Given the description of an element on the screen output the (x, y) to click on. 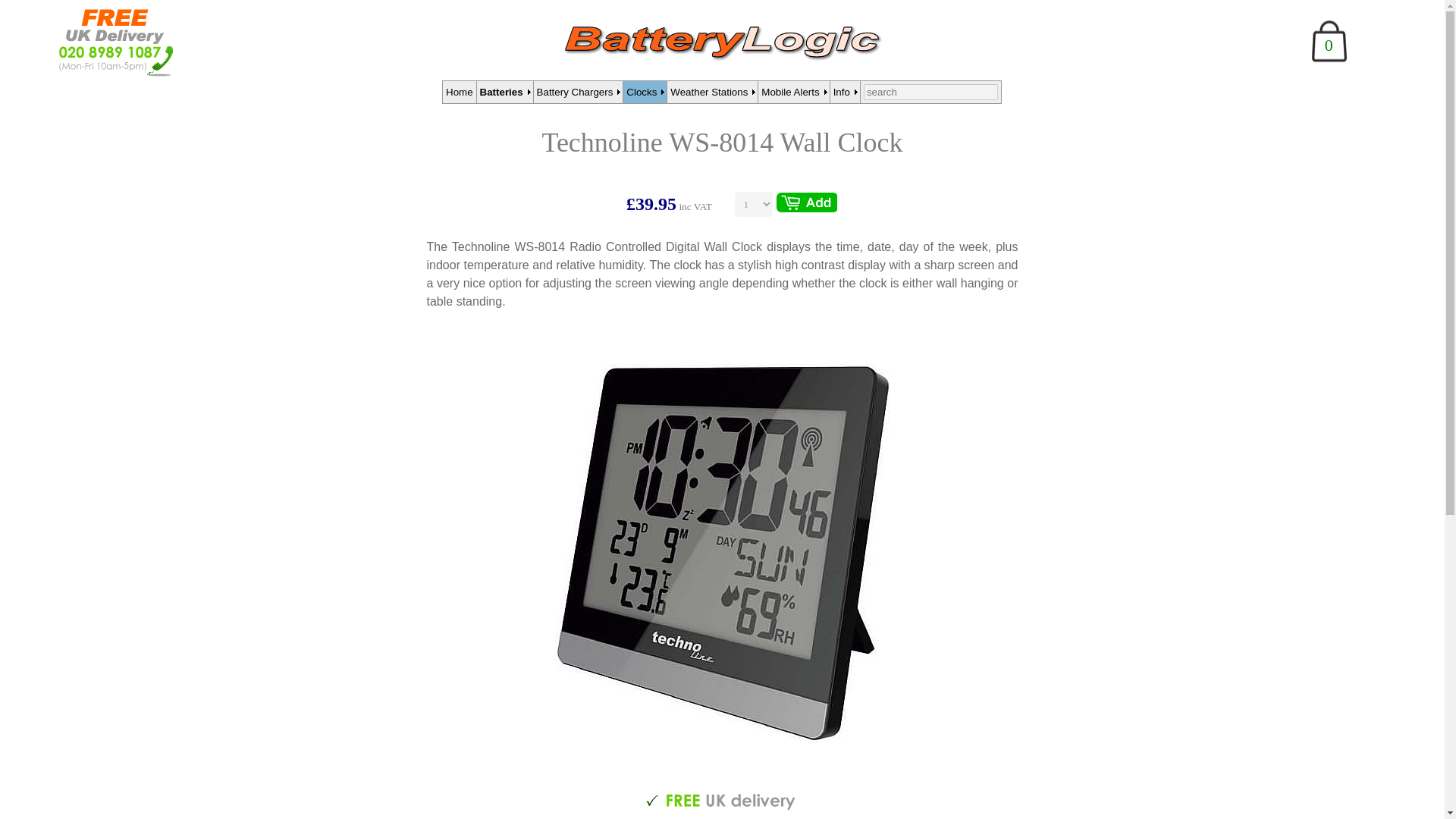
Mobile Alerts (789, 91)
Home (459, 91)
Battery Chargers (574, 91)
Info (841, 91)
Back to Battery Logic Home Page (721, 43)
Weather Stations (708, 91)
Clocks (641, 91)
Batteries (501, 91)
